Given the description of an element on the screen output the (x, y) to click on. 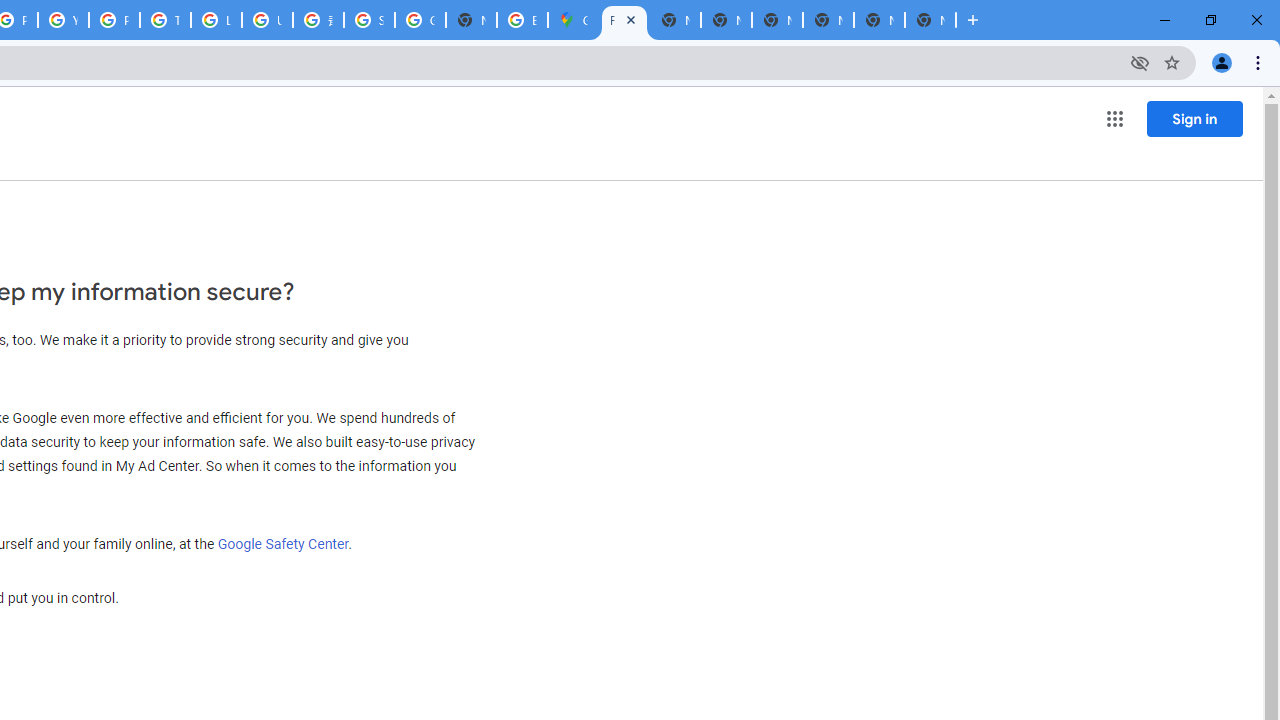
New Tab (470, 20)
Google Safety Center (283, 543)
Tips & tricks for Chrome - Google Chrome Help (164, 20)
Explore new street-level details - Google Maps Help (521, 20)
